Given the description of an element on the screen output the (x, y) to click on. 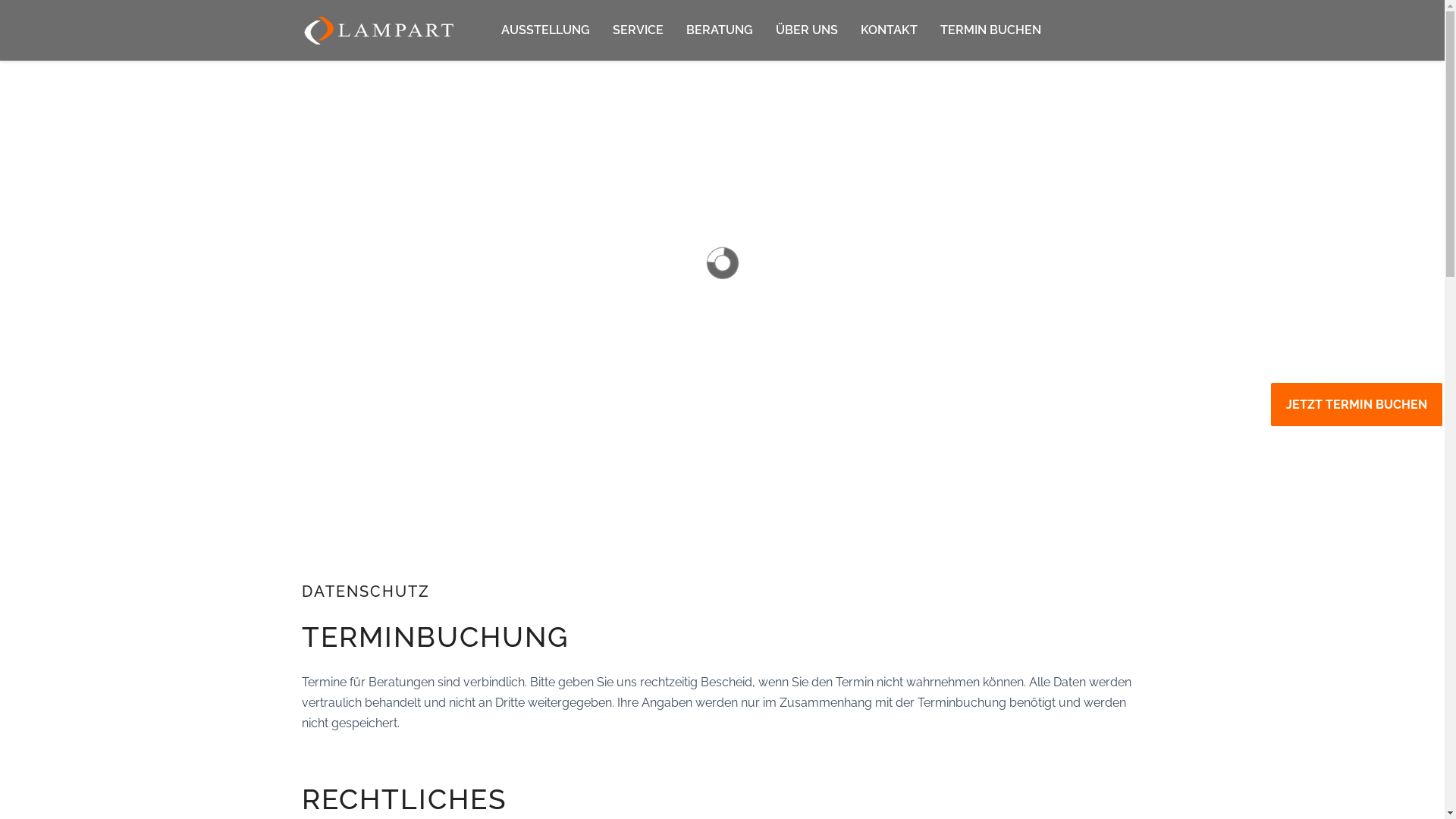
KONTAKT Element type: text (888, 30)
AUSSTELLUNG Element type: text (545, 30)
TERMIN BUCHEN Element type: text (984, 30)
SERVICE Element type: text (637, 30)
JETZT TERMIN BUCHEN Element type: text (1356, 404)
BERATUNG Element type: text (719, 30)
